Given the description of an element on the screen output the (x, y) to click on. 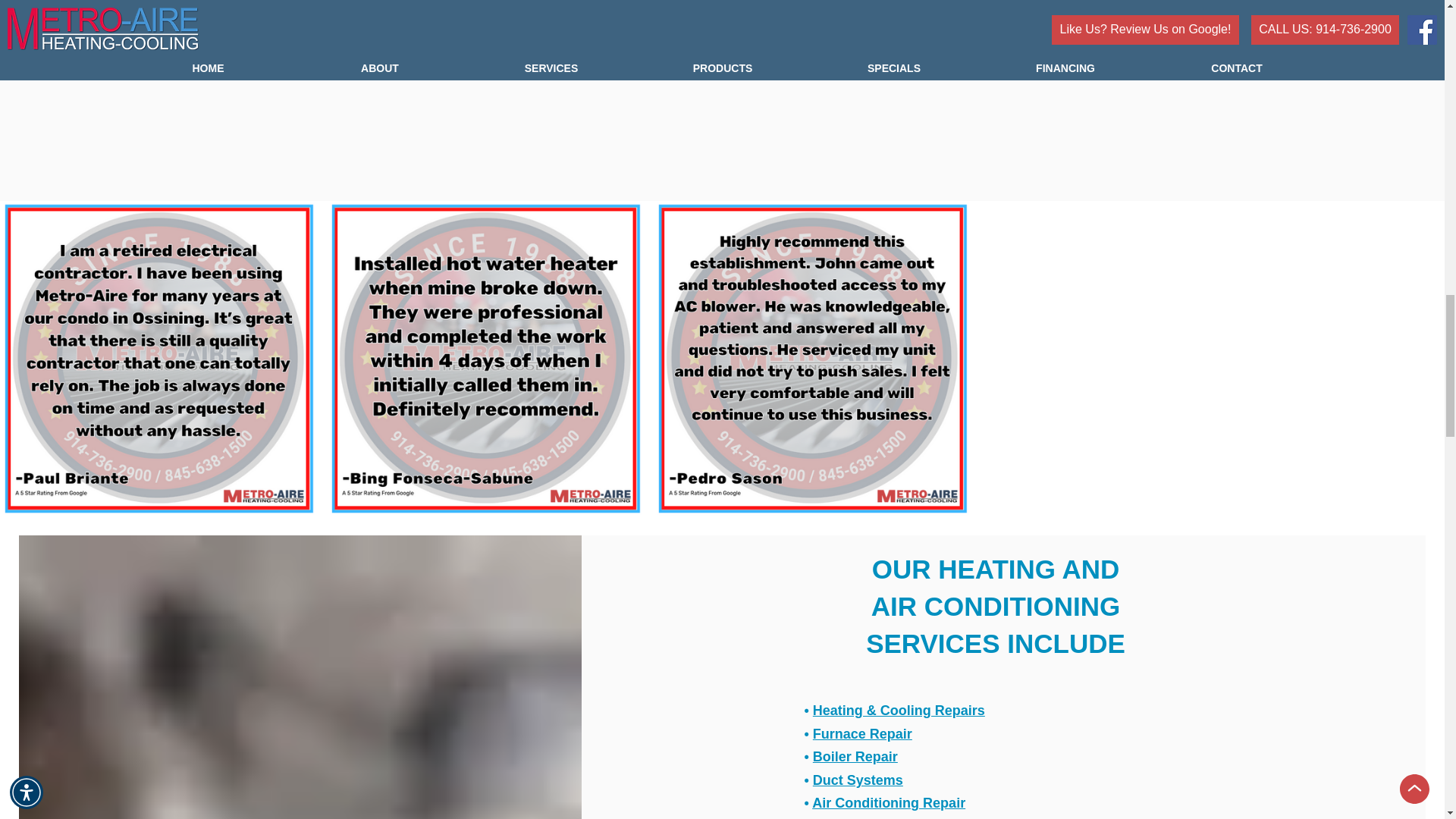
Boiler Repair (855, 756)
Furnace Repair (862, 734)
Duct Systems (857, 780)
